Given the description of an element on the screen output the (x, y) to click on. 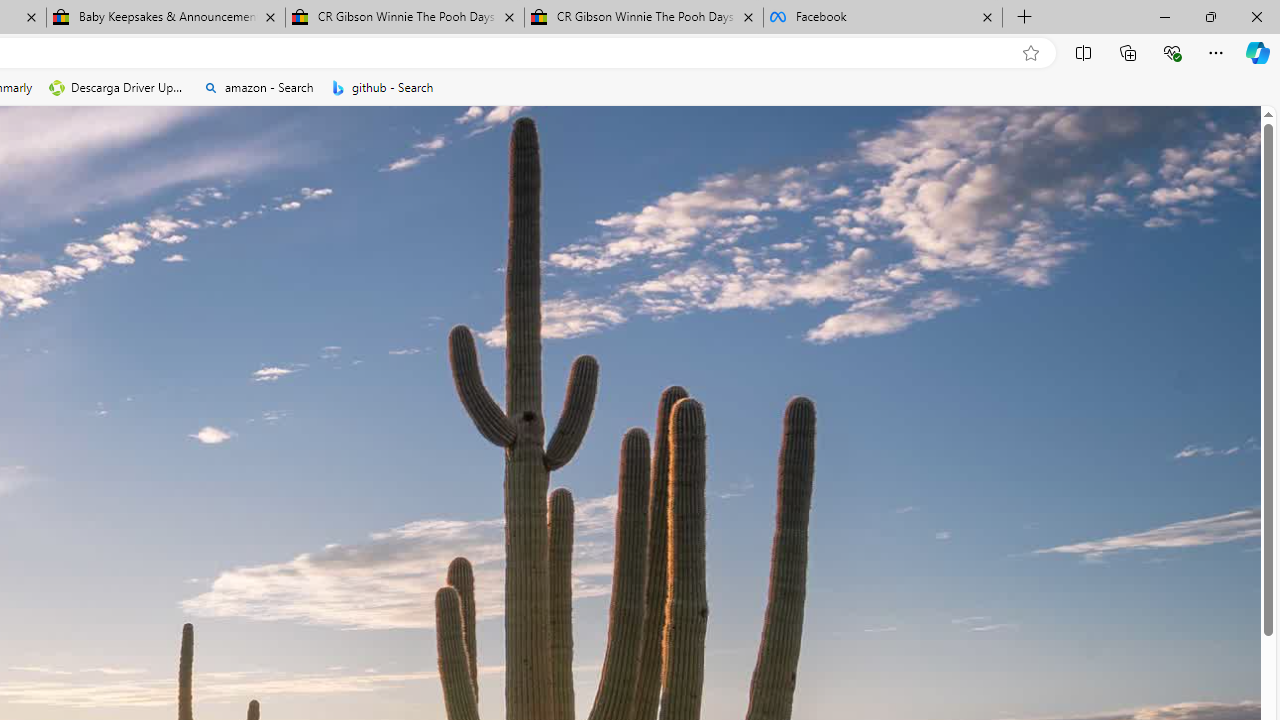
Daily (571, 411)
Hourly (511, 411)
Personalize your feed" (571, 266)
Page settings (1216, 138)
Feed settings (703, 266)
